Given the description of an element on the screen output the (x, y) to click on. 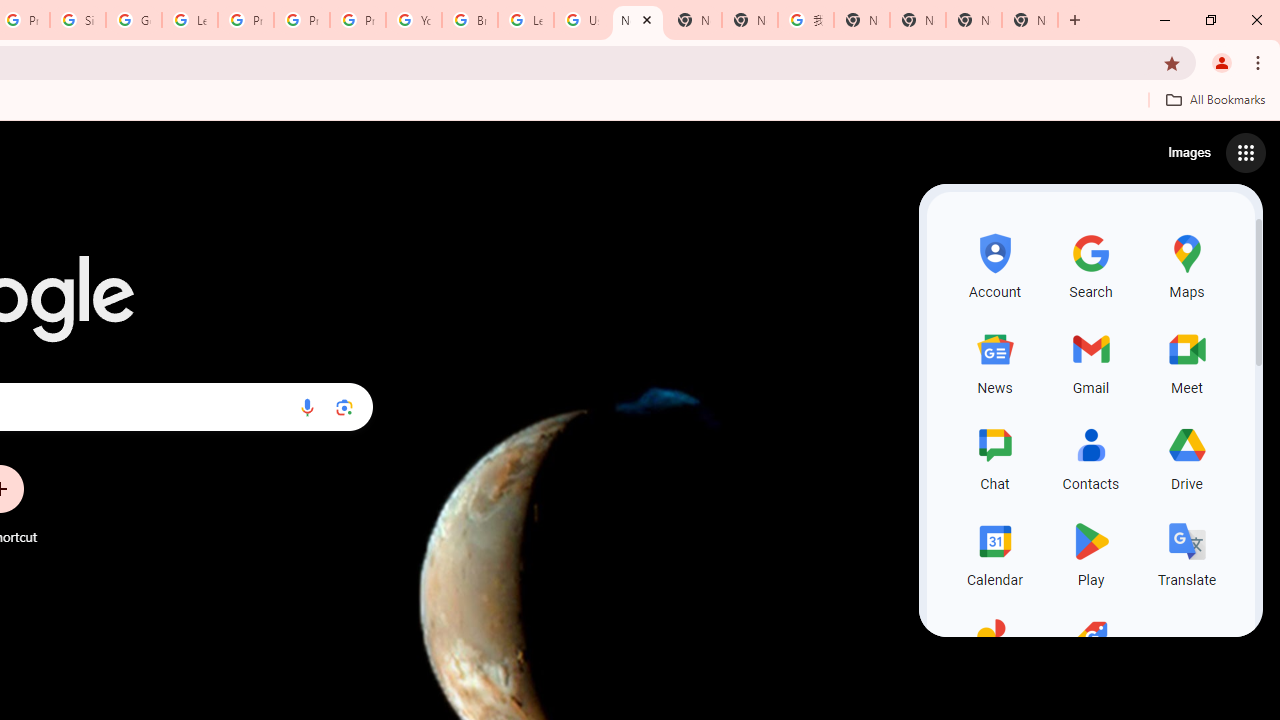
YouTube (413, 20)
Translate, row 4 of 5 and column 3 of 3 in the first section (1186, 551)
Maps, row 1 of 5 and column 3 of 3 in the first section (1186, 263)
Search, row 1 of 5 and column 2 of 3 in the first section (1090, 263)
Photos, row 5 of 5 and column 1 of 3 in the first section (994, 647)
